Given the description of an element on the screen output the (x, y) to click on. 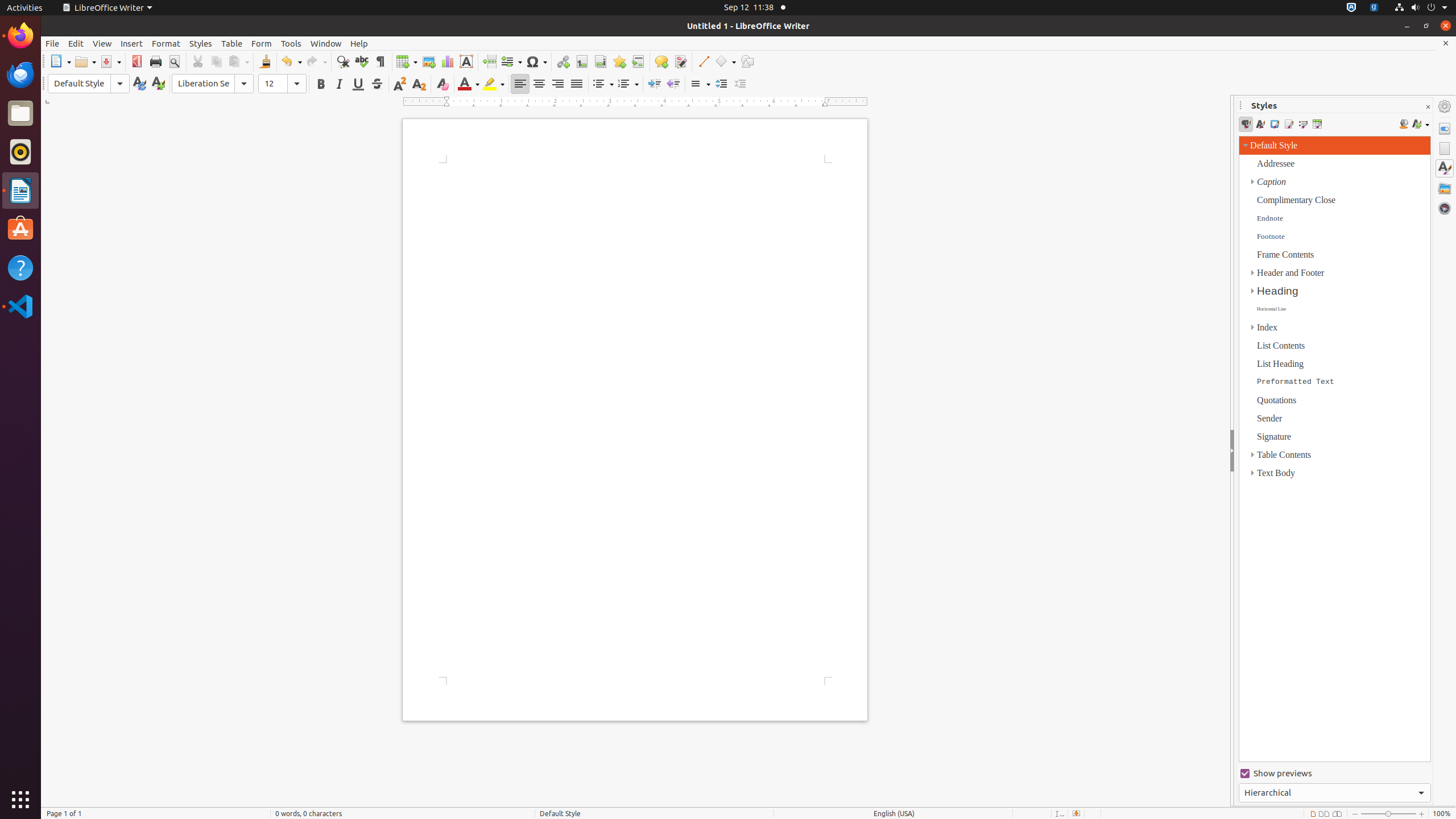
Edit Element type: menu (75, 43)
Gallery Element type: radio-button (1444, 188)
Image Element type: push-button (428, 61)
Form Element type: menu (261, 43)
Page Element type: radio-button (1444, 148)
